Given the description of an element on the screen output the (x, y) to click on. 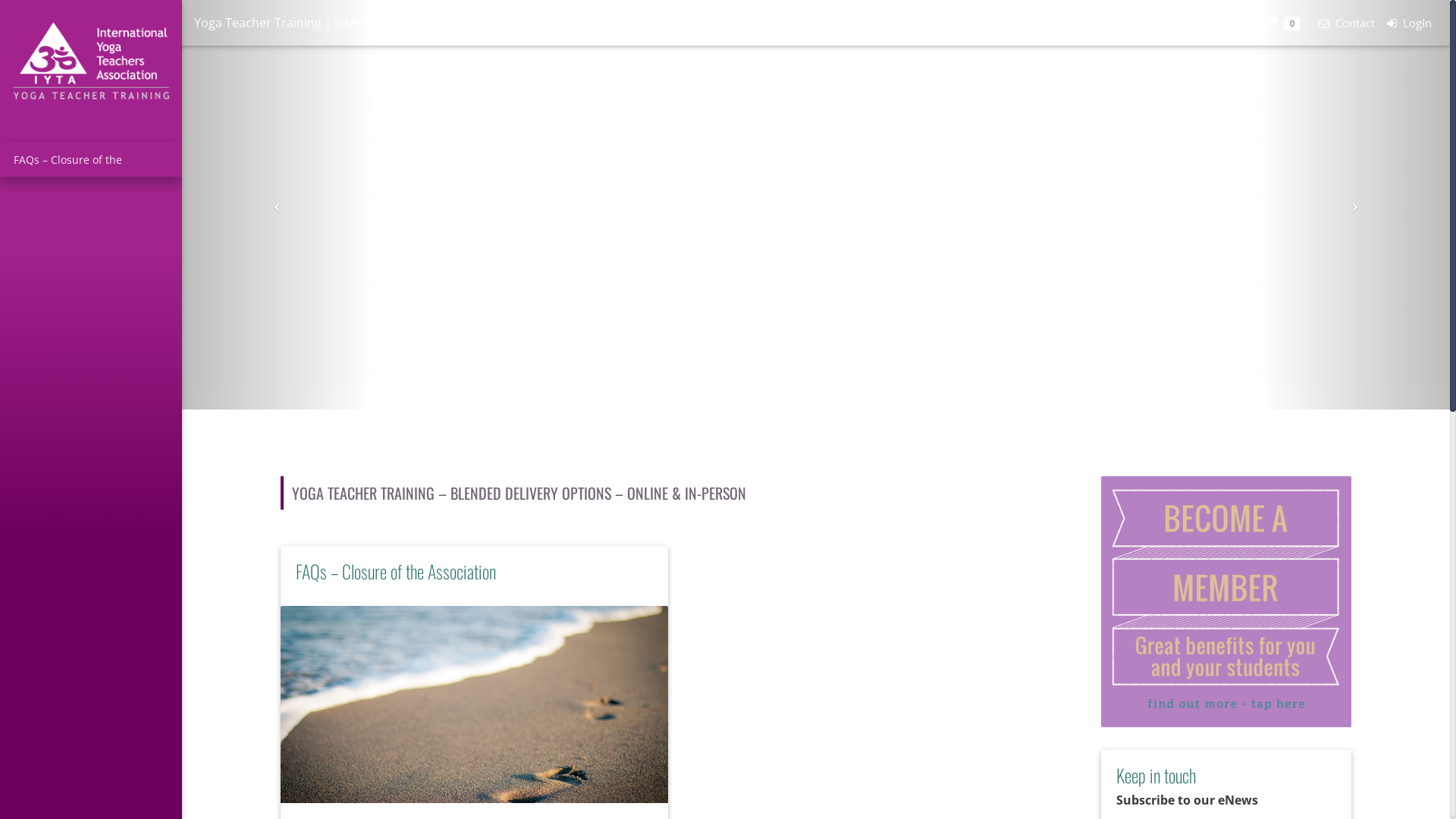
0 Element type: text (1281, 22)
Previous Element type: text (277, 204)
LogIn Element type: text (1408, 22)
Next Element type: text (1354, 204)
Contact Element type: text (1343, 22)
